Given the description of an element on the screen output the (x, y) to click on. 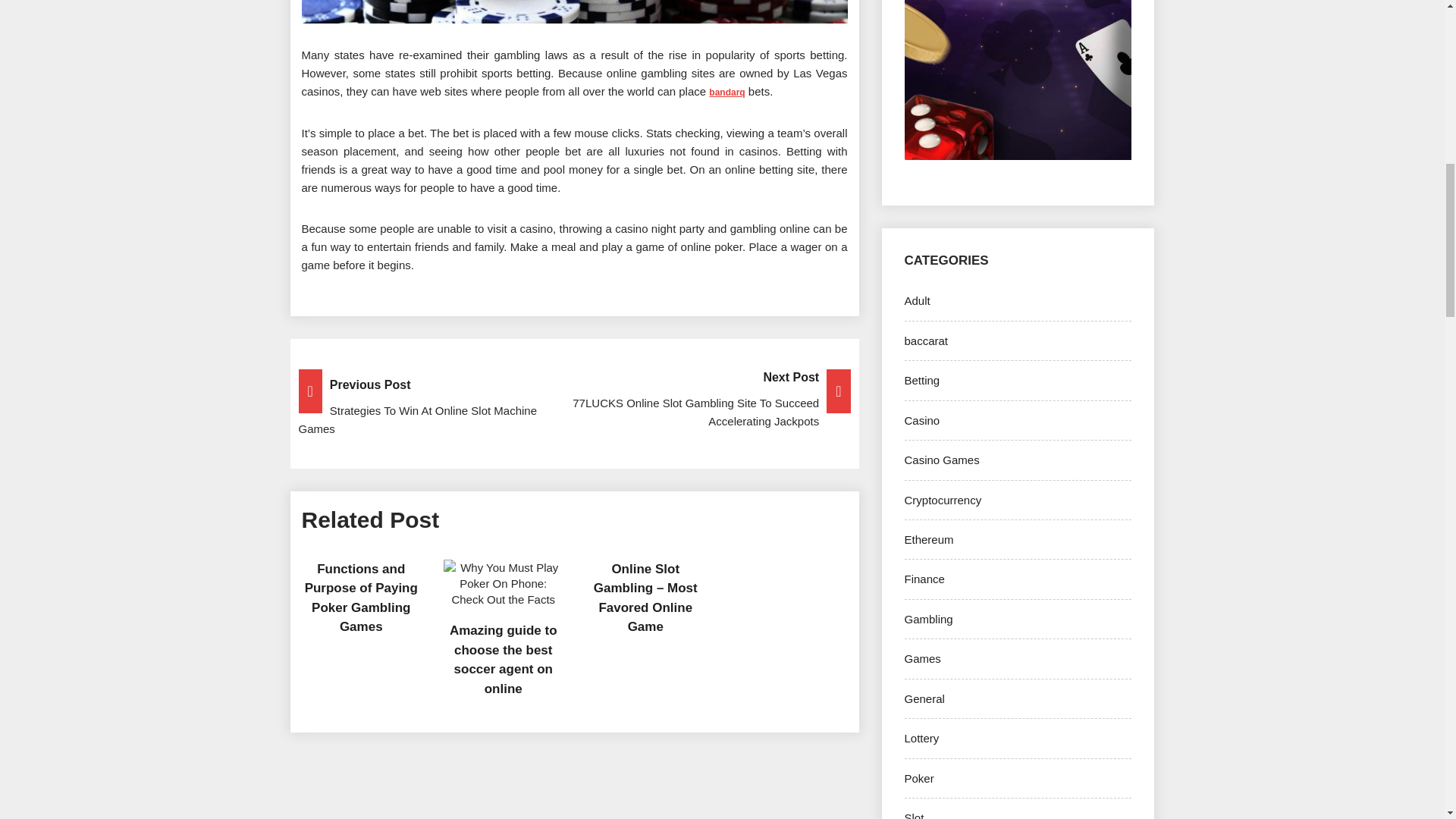
Functions and Purpose of Paying Poker Gambling Games (360, 597)
Gambling (928, 618)
Cryptocurrency (942, 499)
baccarat (925, 340)
Betting (921, 379)
Casino Games (941, 459)
General (923, 698)
Casino (921, 420)
Lottery (921, 738)
Amazing guide to choose the best soccer agent on online (503, 659)
Poker (918, 778)
Ethereum (928, 539)
bandarq (726, 91)
Slot (913, 815)
